Given the description of an element on the screen output the (x, y) to click on. 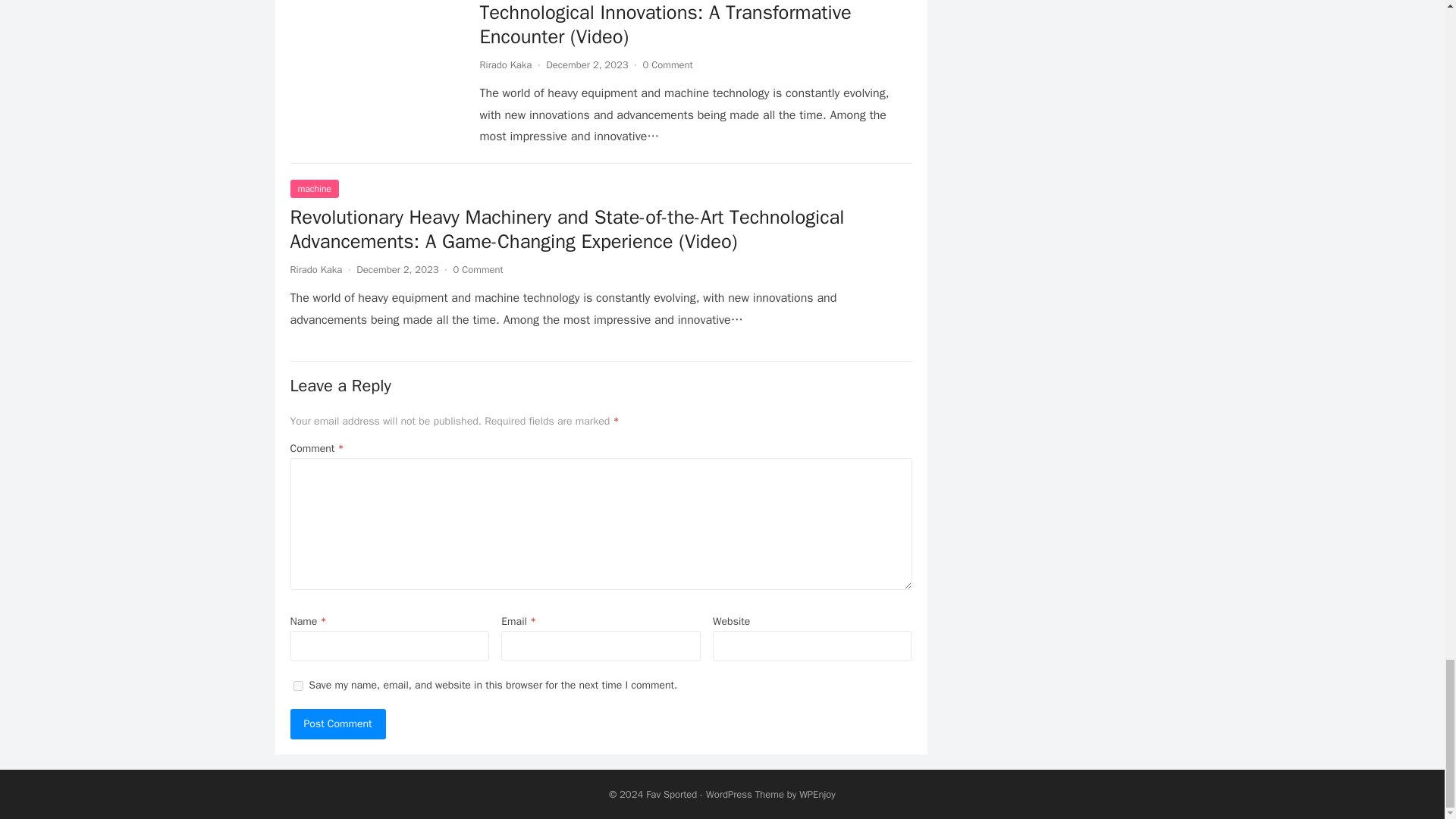
Post Comment (337, 724)
Posts by Rirado Kaka (315, 269)
yes (297, 685)
Posts by Rirado Kaka (505, 64)
